Given the description of an element on the screen output the (x, y) to click on. 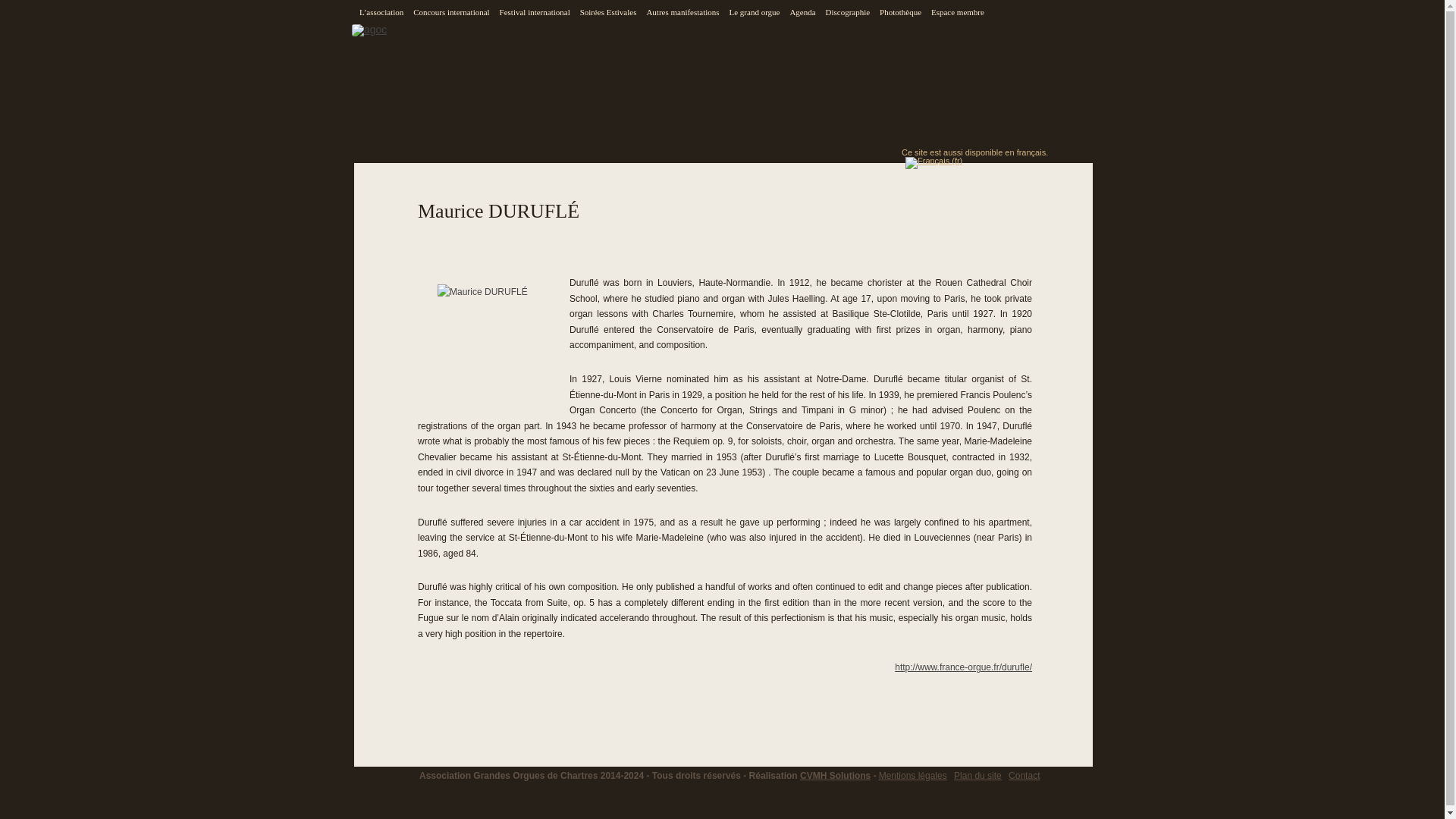
Skip to content (758, 5)
CVMH Solutions (834, 775)
AGOC (381, 42)
AGOC (381, 42)
Espace membre (956, 12)
Discographie (846, 12)
CVMH Solutions (834, 775)
Discographie (846, 12)
Festival international (533, 12)
Espace membre (956, 12)
